Given the description of an element on the screen output the (x, y) to click on. 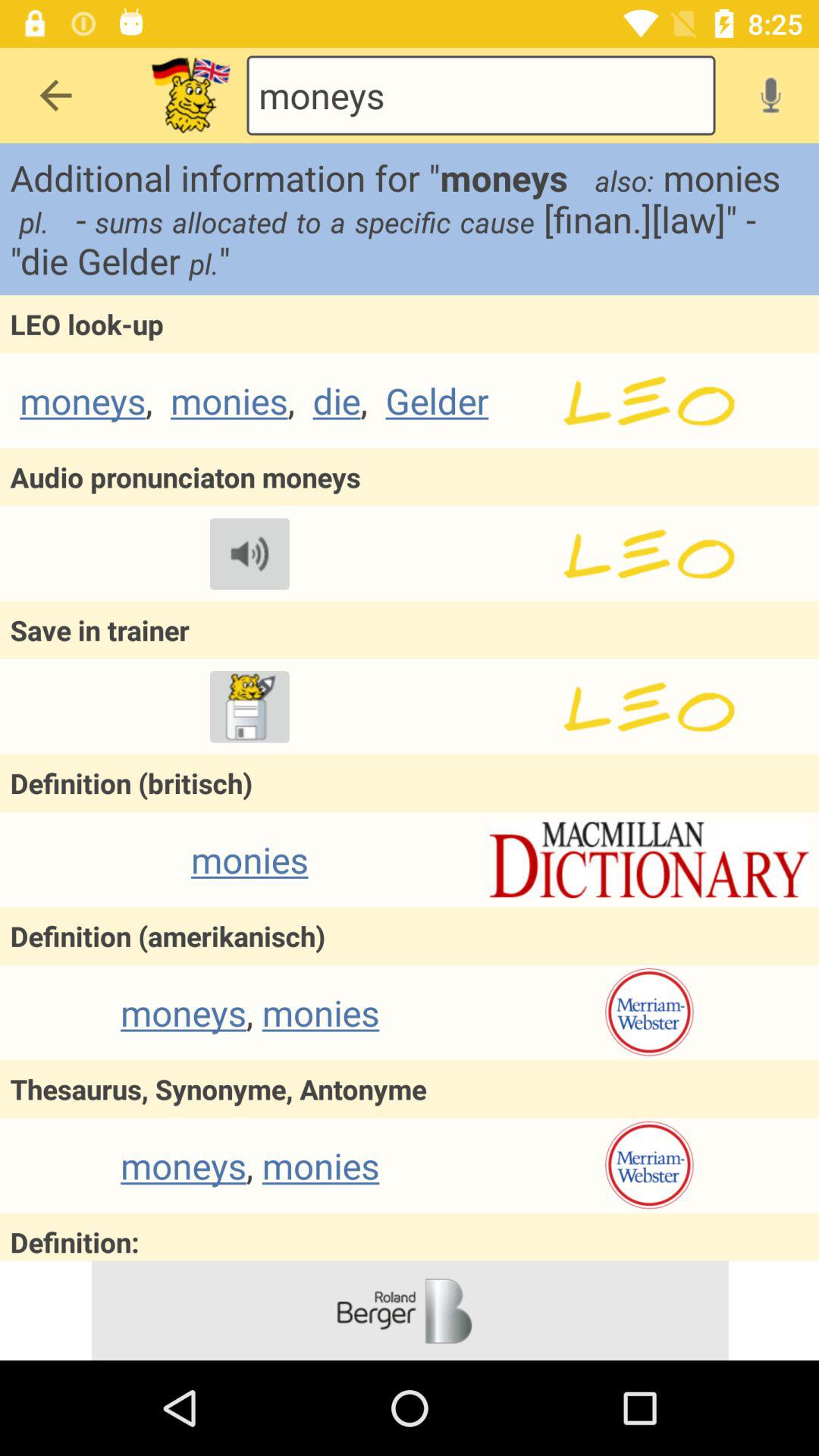
go to advertisement (409, 1310)
